Given the description of an element on the screen output the (x, y) to click on. 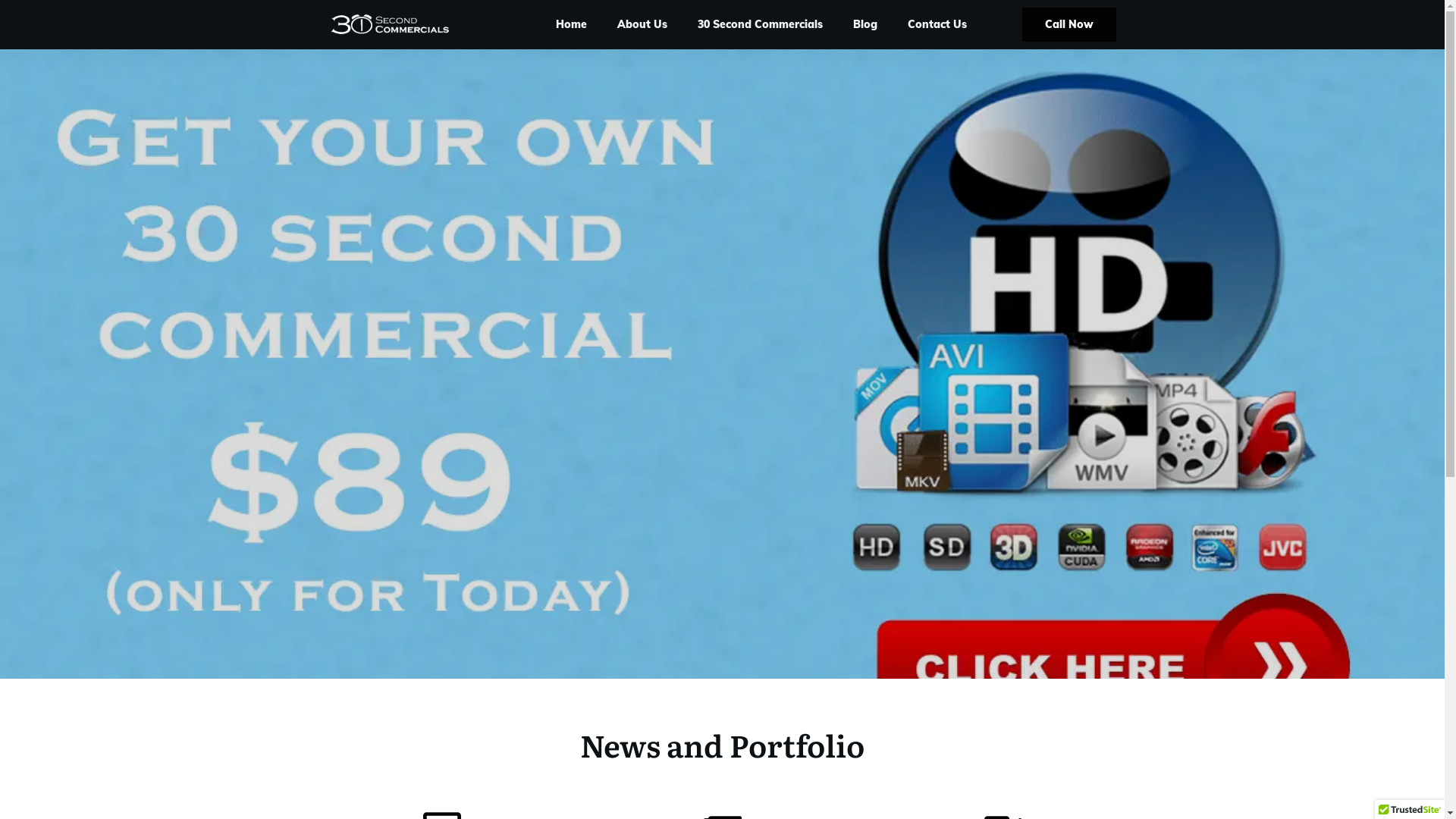
Call Now Element type: text (1069, 24)
Home Element type: text (570, 23)
30 Second Commercials Element type: text (759, 23)
Contact Us Element type: text (936, 23)
About Us Element type: text (642, 23)
Blog Element type: text (865, 23)
